Given the description of an element on the screen output the (x, y) to click on. 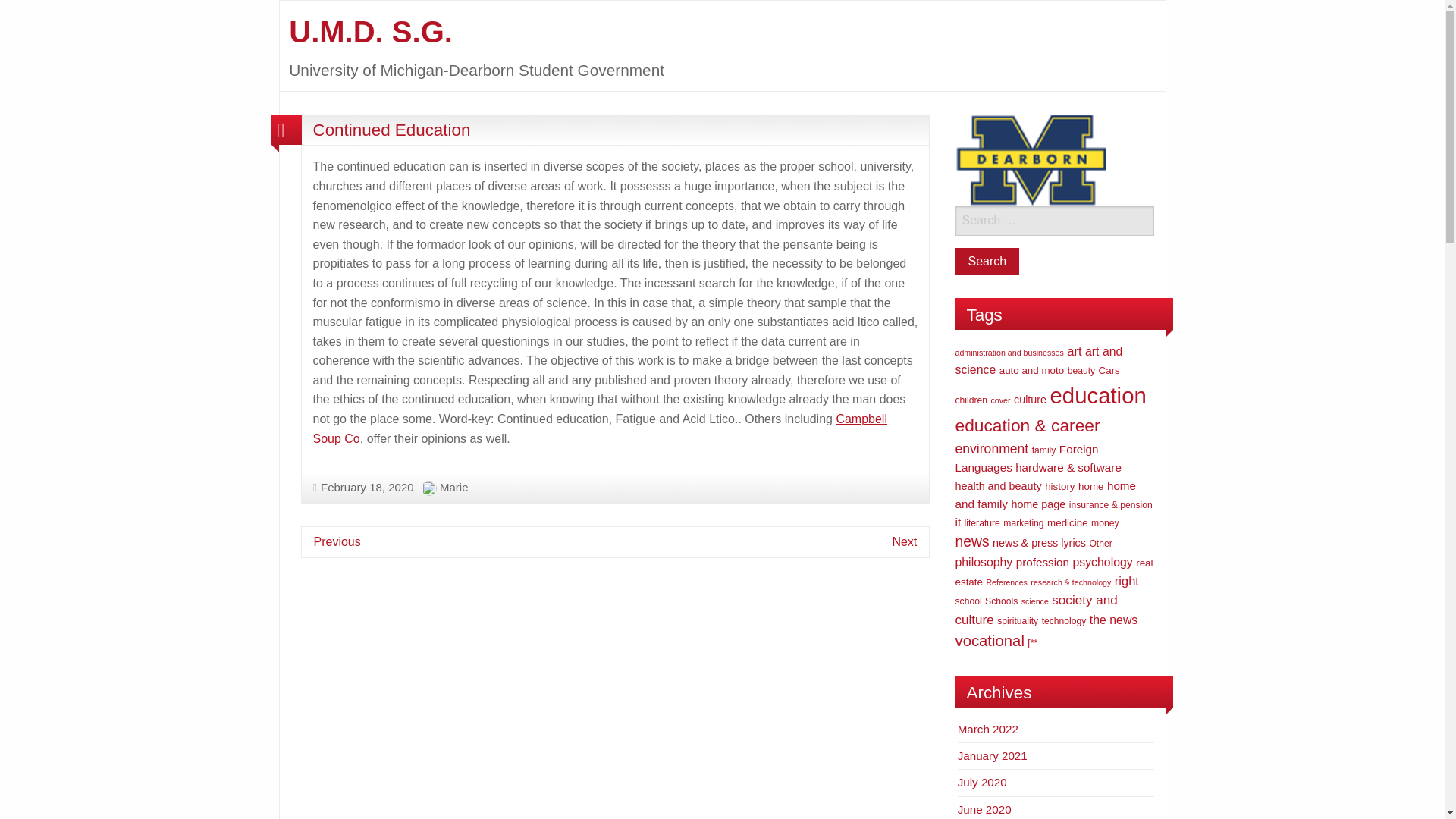
Cars (1109, 369)
administration and businesses (1009, 352)
children (971, 399)
history (1059, 486)
cover (1000, 399)
Previous (337, 541)
auto and moto (1031, 369)
marketing (1023, 522)
education (1098, 395)
psychology (1101, 562)
Continued Education (391, 129)
Search (987, 261)
medicine (1066, 522)
beauty (1080, 370)
environment (992, 448)
